Given the description of an element on the screen output the (x, y) to click on. 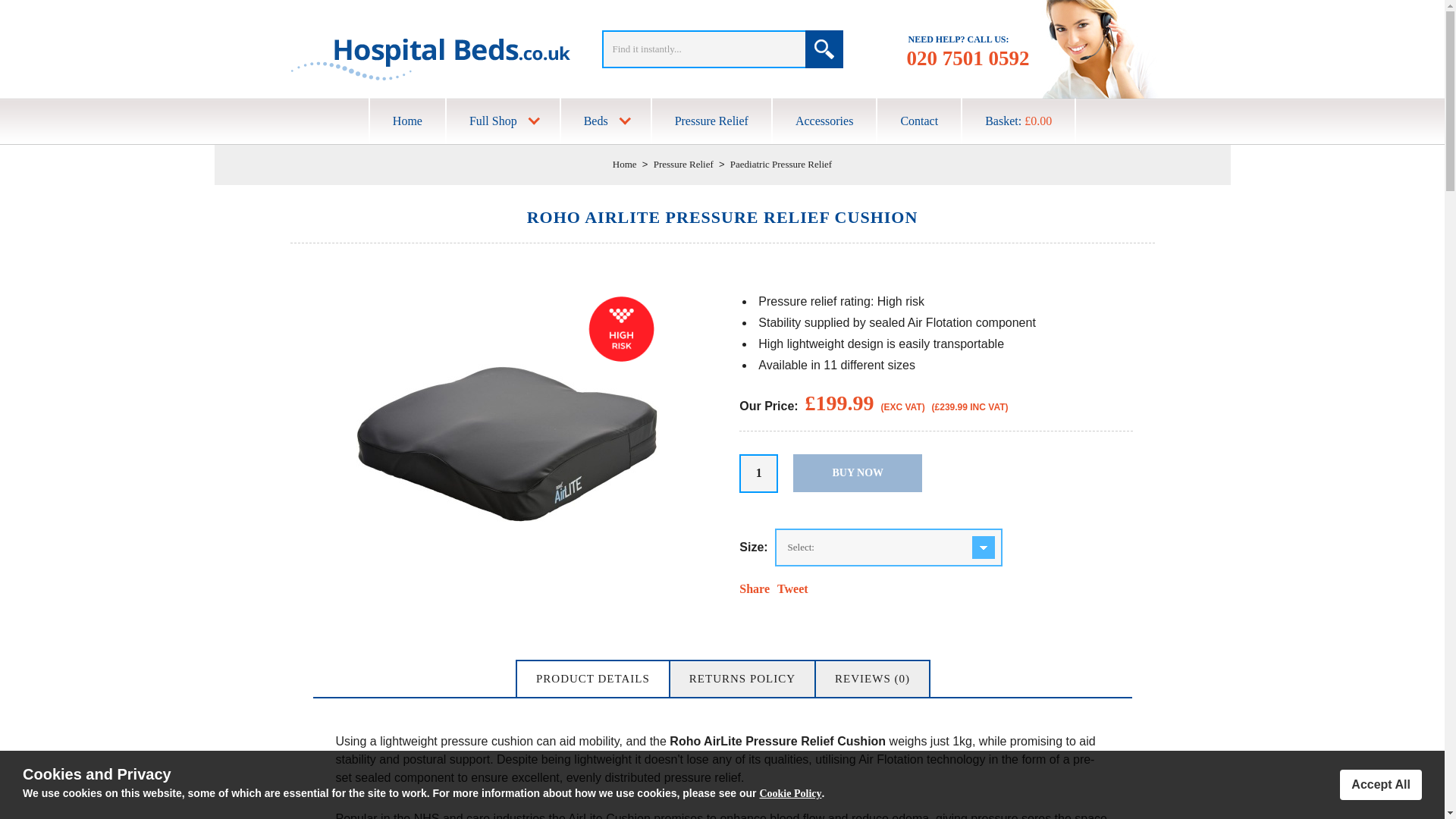
Go (824, 48)
Zoom (507, 442)
RETURNS POLICY (741, 678)
Roho AirLite Pressure Relief Cushion (507, 590)
Browse Our Full Range of Hospital Beds (605, 120)
Share (754, 588)
Pressure Relief (683, 163)
1 (758, 473)
Paediatric Pressure Relief (780, 163)
BUY NOW (857, 473)
PRODUCT DETAILS (592, 678)
Tweet (792, 588)
Home (624, 163)
